Given the description of an element on the screen output the (x, y) to click on. 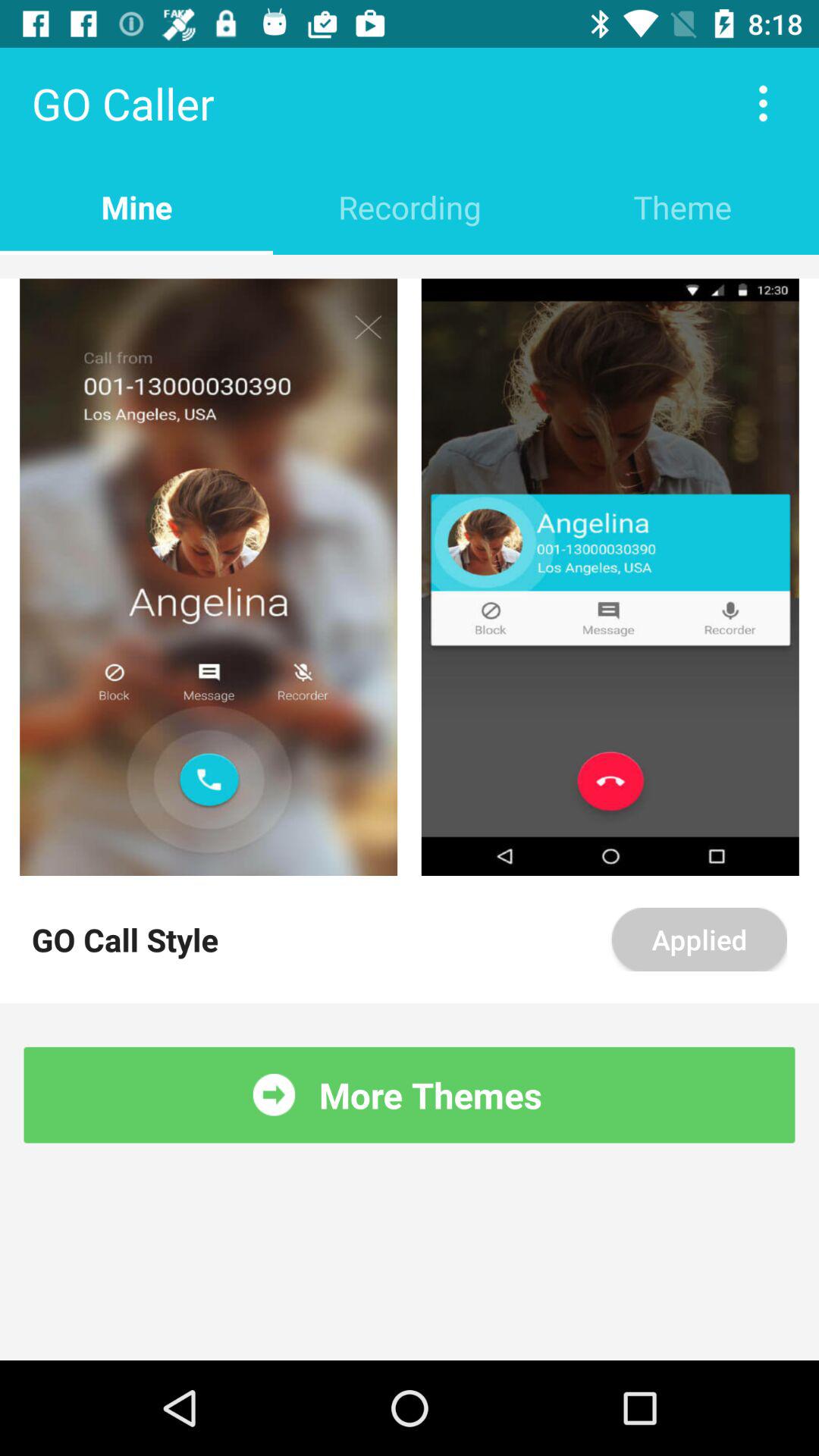
select item above theme item (763, 103)
